Given the description of an element on the screen output the (x, y) to click on. 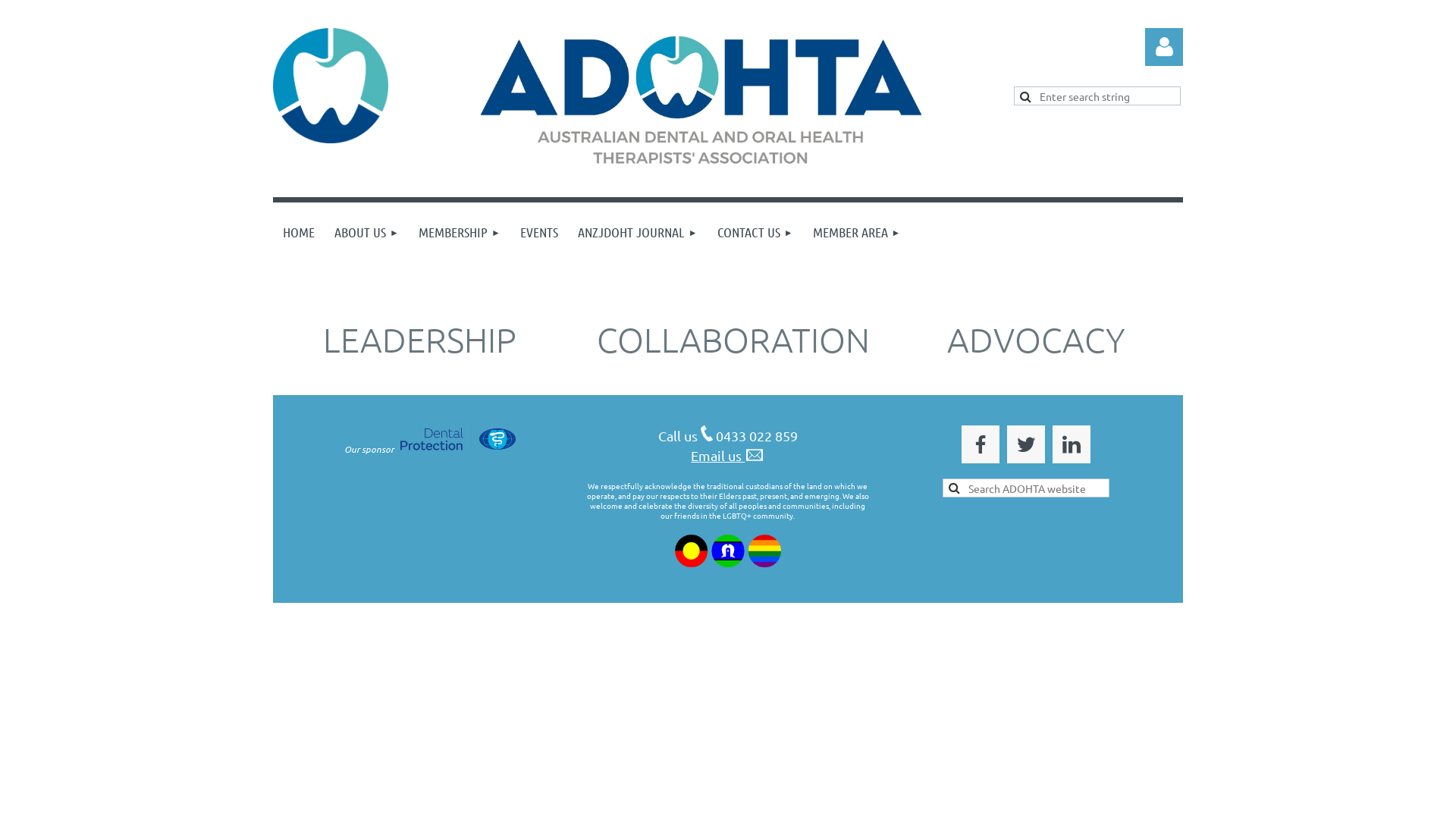
Twitter Element type: hover (1025, 444)
HOME Element type: text (298, 232)
ABOUT US Element type: text (366, 232)
ANZJDOHT JOURNAL Element type: text (637, 232)
MEMBER AREA Element type: text (856, 232)
Email us  Element type: text (727, 455)
MEMBERSHIP Element type: text (459, 232)
Log in Element type: text (1164, 46)
LinkedIn Element type: hover (1071, 444)
EVENTS Element type: text (538, 232)
Facebook Element type: hover (980, 444)
CONTACT US Element type: text (755, 232)
